Given the description of an element on the screen output the (x, y) to click on. 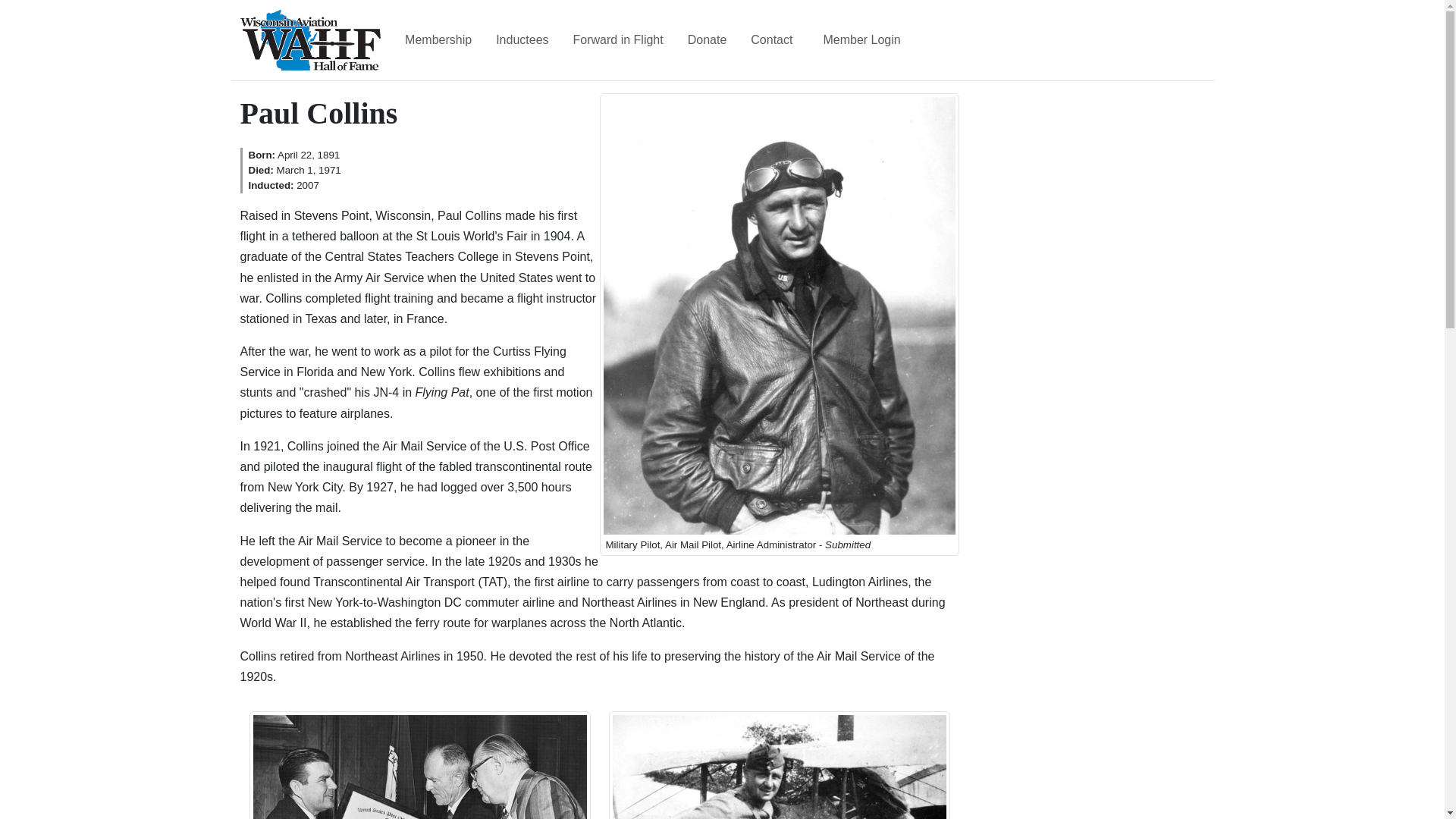
Membership (437, 40)
Donate (707, 40)
Inductees (521, 40)
Contact (770, 40)
Member Login (860, 40)
Forward in Flight (618, 40)
